Given the description of an element on the screen output the (x, y) to click on. 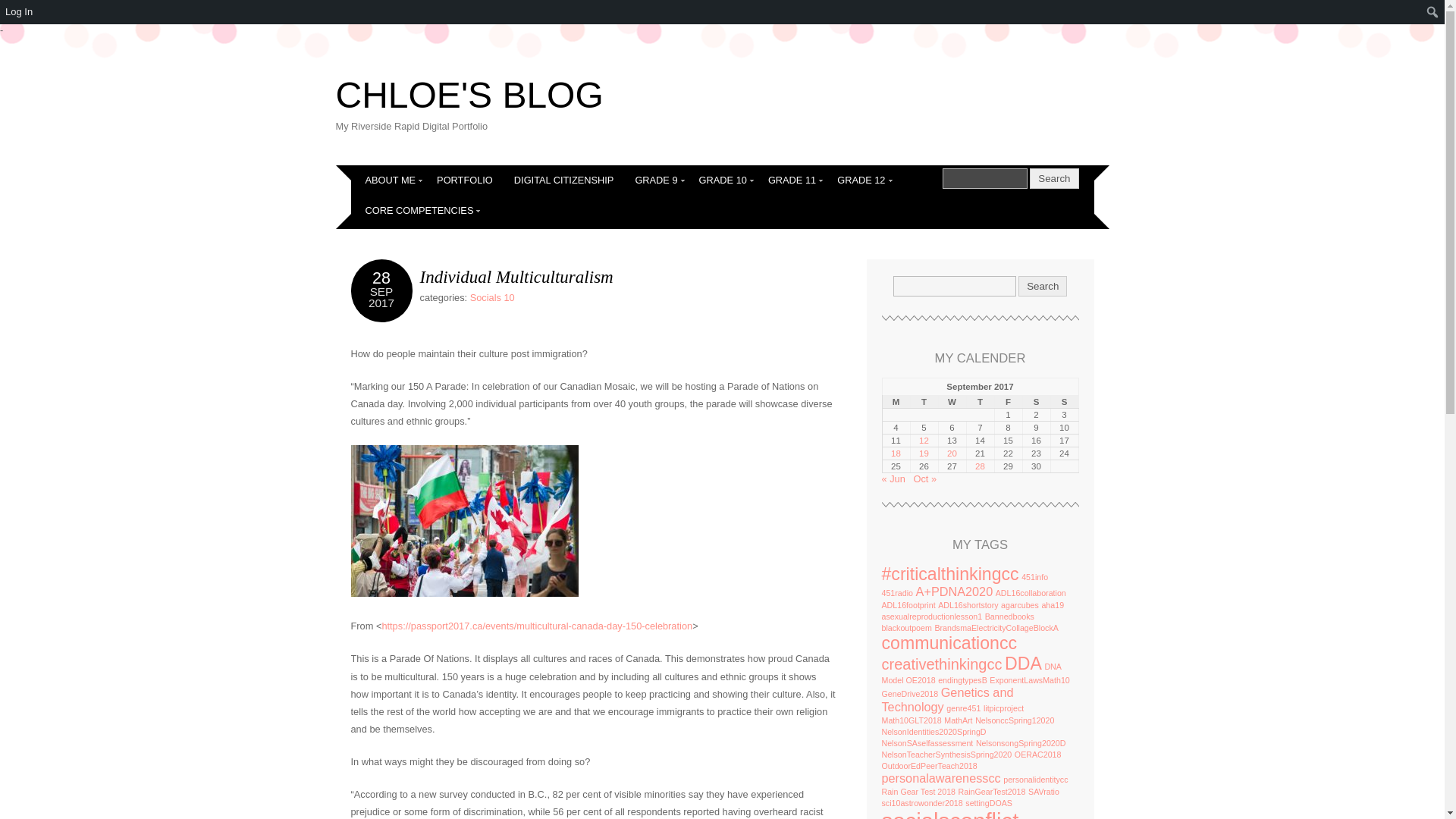
Saturday (1035, 401)
PORTFOLIO (464, 180)
DIGITAL CITIZENSHIP (563, 180)
Tuesday (923, 401)
Wednesday (951, 401)
GRADE 10 (722, 180)
GRADE 12 (861, 180)
Friday (1008, 401)
Search (984, 178)
Individual Multiculturalism (516, 276)
